Given the description of an element on the screen output the (x, y) to click on. 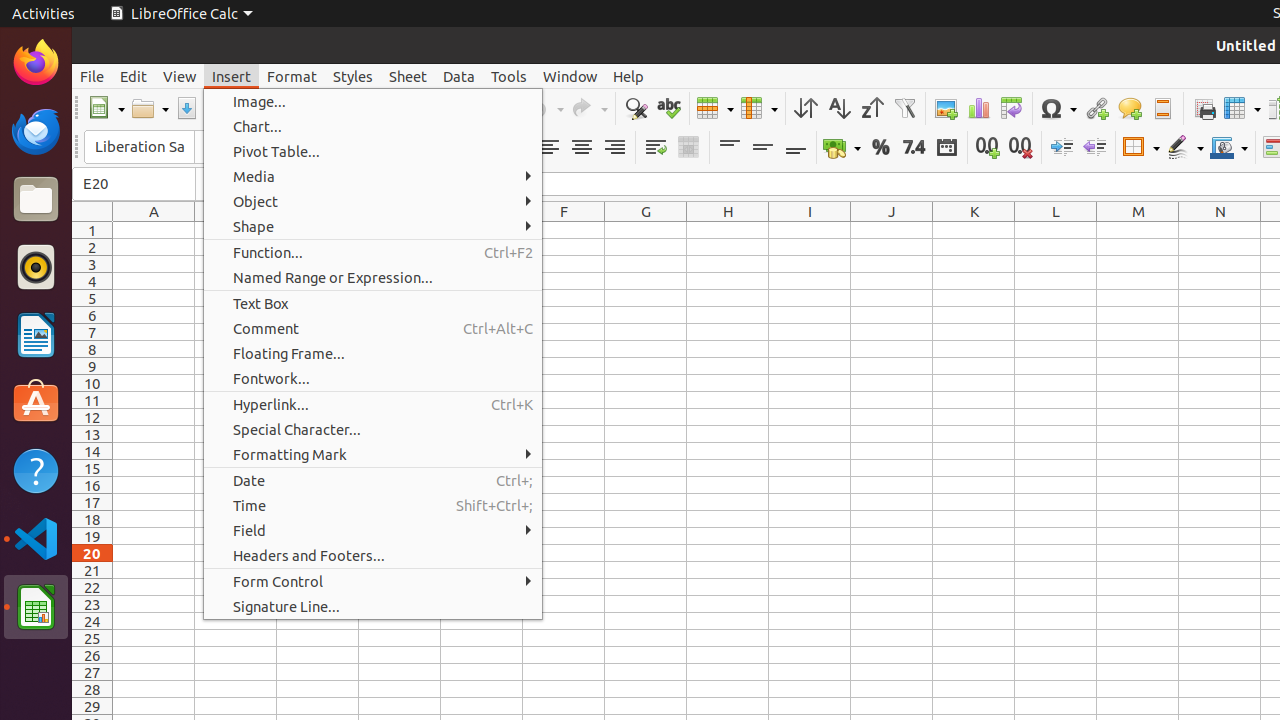
Time Element type: menu-item (373, 505)
